Given the description of an element on the screen output the (x, y) to click on. 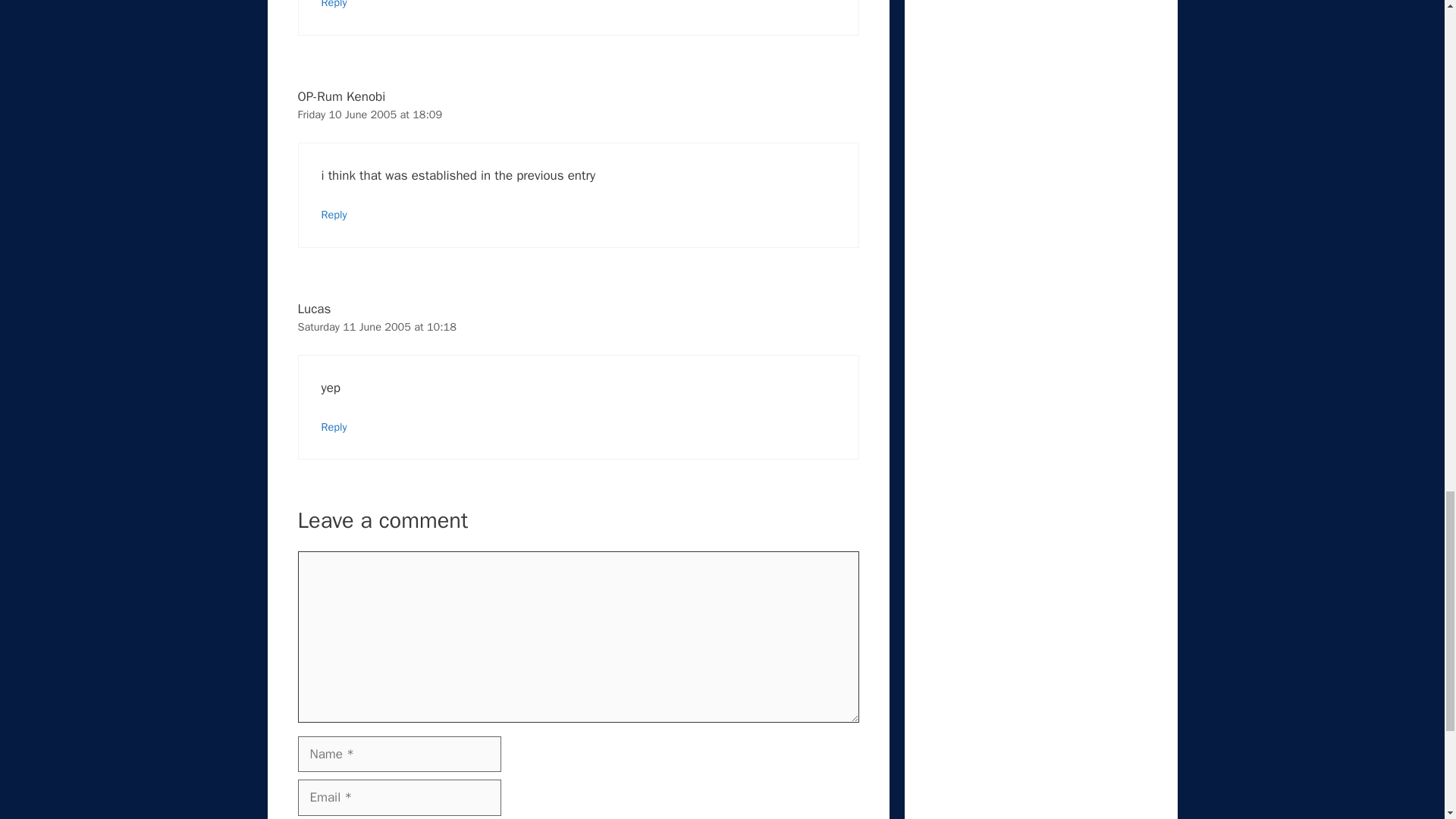
Reply (334, 427)
Reply (334, 214)
Reply (334, 4)
Saturday 11 June 2005 at 10:18 (376, 326)
Friday 10 June 2005 at 18:09 (369, 114)
